Given the description of an element on the screen output the (x, y) to click on. 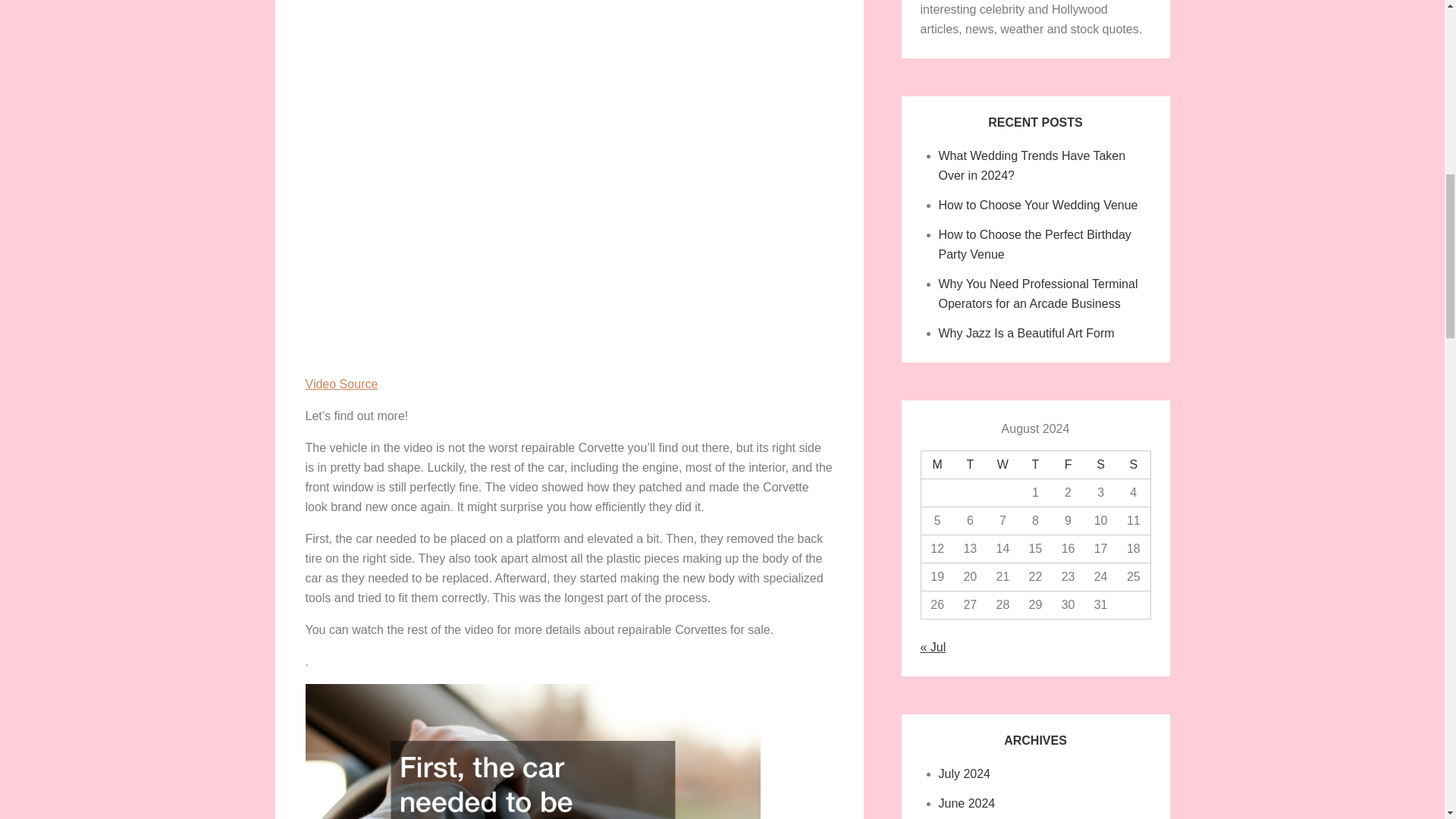
Sunday (1133, 465)
Saturday (1100, 465)
Video Source (340, 383)
Why Jazz Is a Beautiful Art Form (1027, 332)
June 2024 (967, 802)
Wednesday (1003, 465)
What Wedding Trends Have Taken Over in 2024? (1032, 165)
How to Choose the Perfect Birthday Party Venue (1035, 244)
Monday (936, 465)
Friday (1067, 465)
How to Choose Your Wedding Venue (1038, 205)
Thursday (1035, 465)
July 2024 (965, 773)
Tuesday (970, 465)
